Given the description of an element on the screen output the (x, y) to click on. 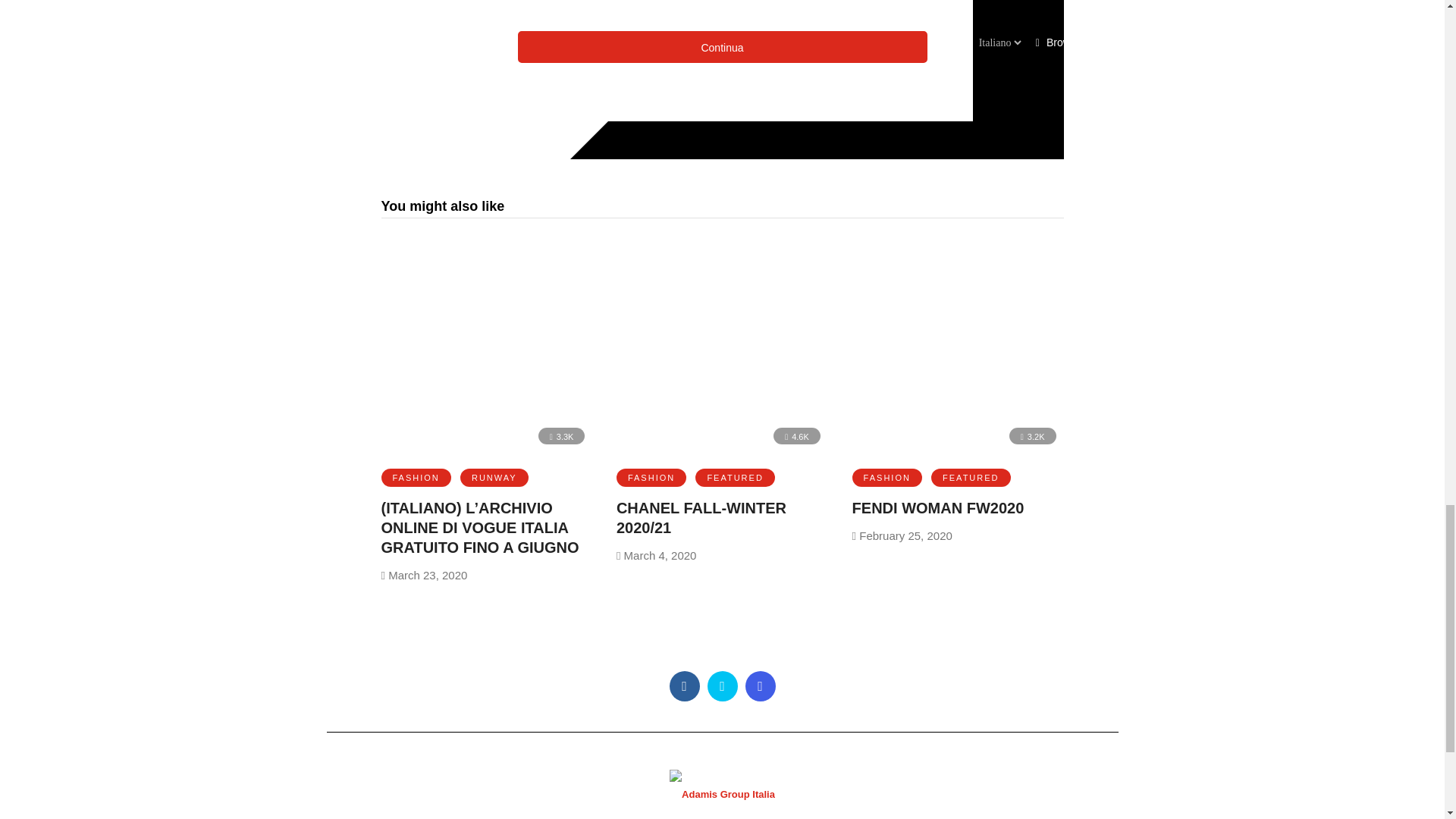
FENDI Woman FW2020 (938, 507)
Instagram (759, 685)
Twitter (721, 685)
Facebook (683, 685)
ADAMIS GROUP (722, 803)
Continua (721, 47)
